Given the description of an element on the screen output the (x, y) to click on. 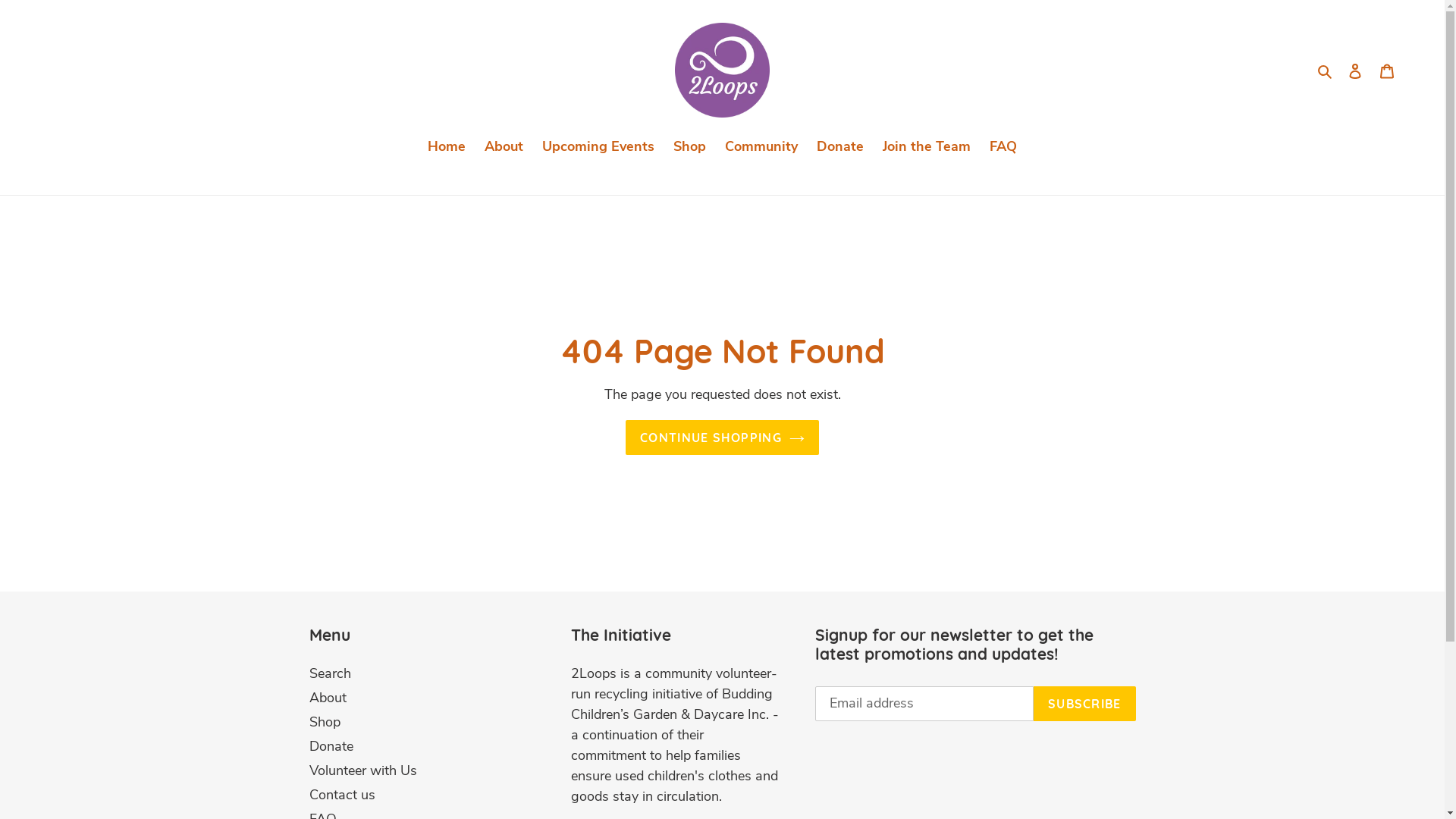
Donate Element type: text (840, 147)
Contact us Element type: text (342, 794)
SUBSCRIBE Element type: text (1084, 703)
Join the Team Element type: text (926, 147)
About Element type: text (327, 697)
Shop Element type: text (324, 721)
FAQ Element type: text (1003, 147)
Cart Element type: text (1386, 69)
Upcoming Events Element type: text (598, 147)
Volunteer with Us Element type: text (363, 770)
Log in Element type: text (1355, 69)
Search Element type: text (1325, 70)
CONTINUE SHOPPING Element type: text (722, 437)
Shop Element type: text (689, 147)
Community Element type: text (761, 147)
Donate Element type: text (331, 746)
About Element type: text (503, 147)
Home Element type: text (446, 147)
Search Element type: text (330, 673)
